Given the description of an element on the screen output the (x, y) to click on. 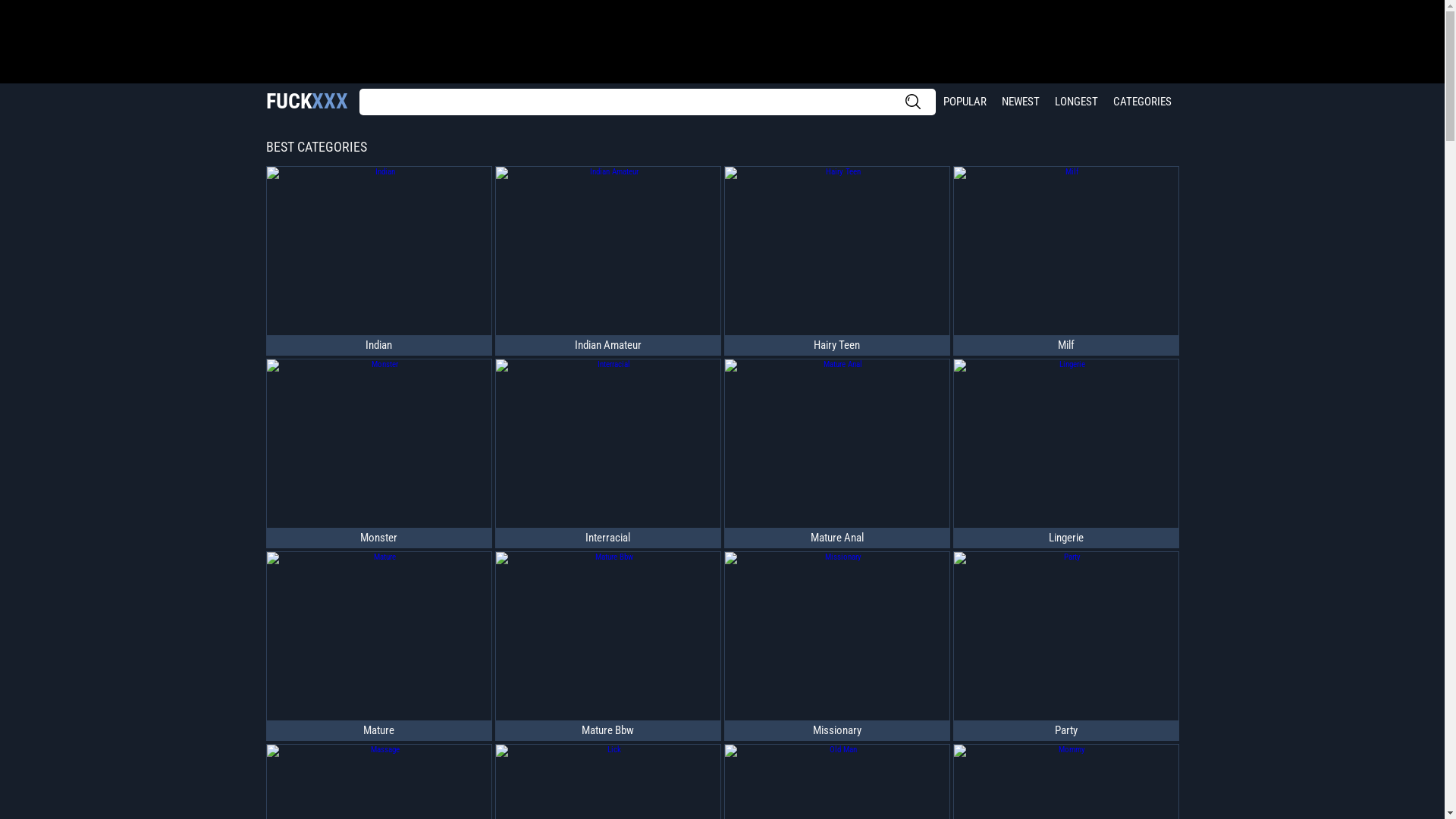
Monster Element type: text (378, 537)
Lingerie Element type: text (1065, 537)
NEWEST Element type: text (1019, 101)
Mature Element type: text (378, 730)
POPULAR Element type: text (964, 101)
CATEGORIES Element type: text (1142, 101)
Missionary Element type: text (836, 730)
Milf Element type: text (1065, 344)
FUCKXXX Element type: text (306, 101)
Indian Amateur Element type: text (607, 344)
Mature Anal Element type: text (836, 537)
Party Element type: text (1065, 730)
Mature Bbw Element type: text (607, 730)
Interracial Element type: text (607, 537)
Hairy Teen Element type: text (836, 344)
Search X Videos Element type: hover (647, 100)
LONGEST Element type: text (1075, 101)
Indian Element type: text (378, 344)
